Given the description of an element on the screen output the (x, y) to click on. 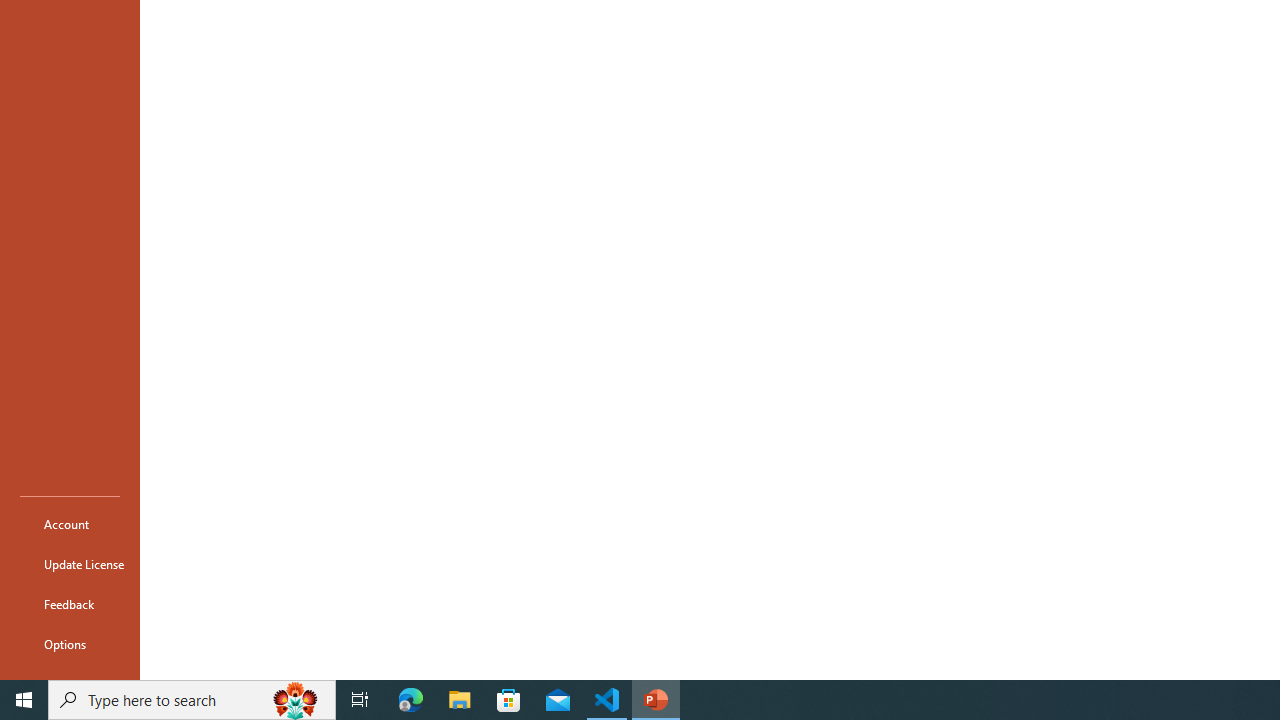
Update License (69, 563)
Feedback (69, 603)
Account (69, 523)
Options (69, 643)
